Given the description of an element on the screen output the (x, y) to click on. 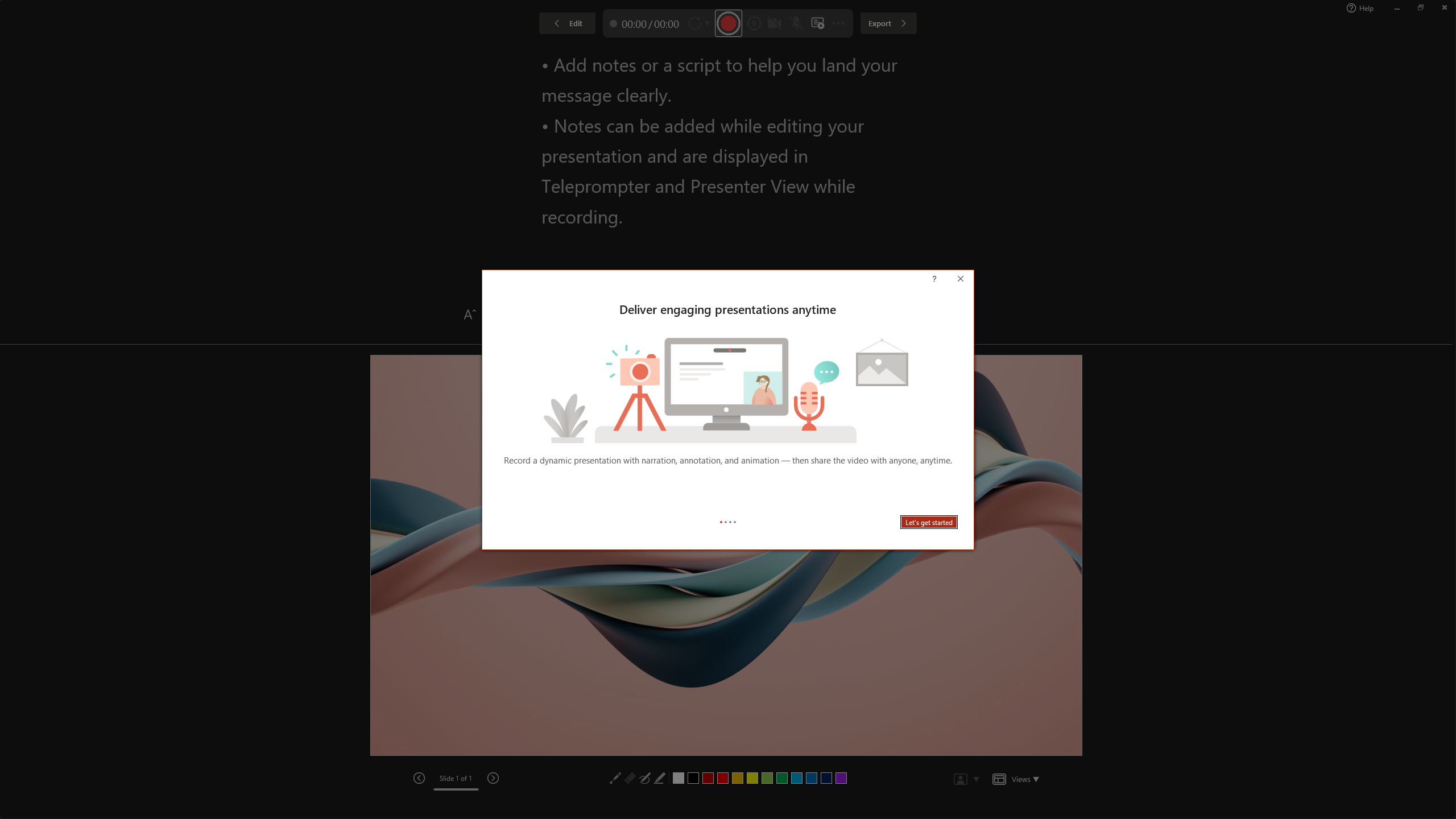
Circuit (772, 56)
Droplet (931, 56)
Gallery (1037, 56)
AutomationID: SlideThemesGallery (539, 56)
